Given the description of an element on the screen output the (x, y) to click on. 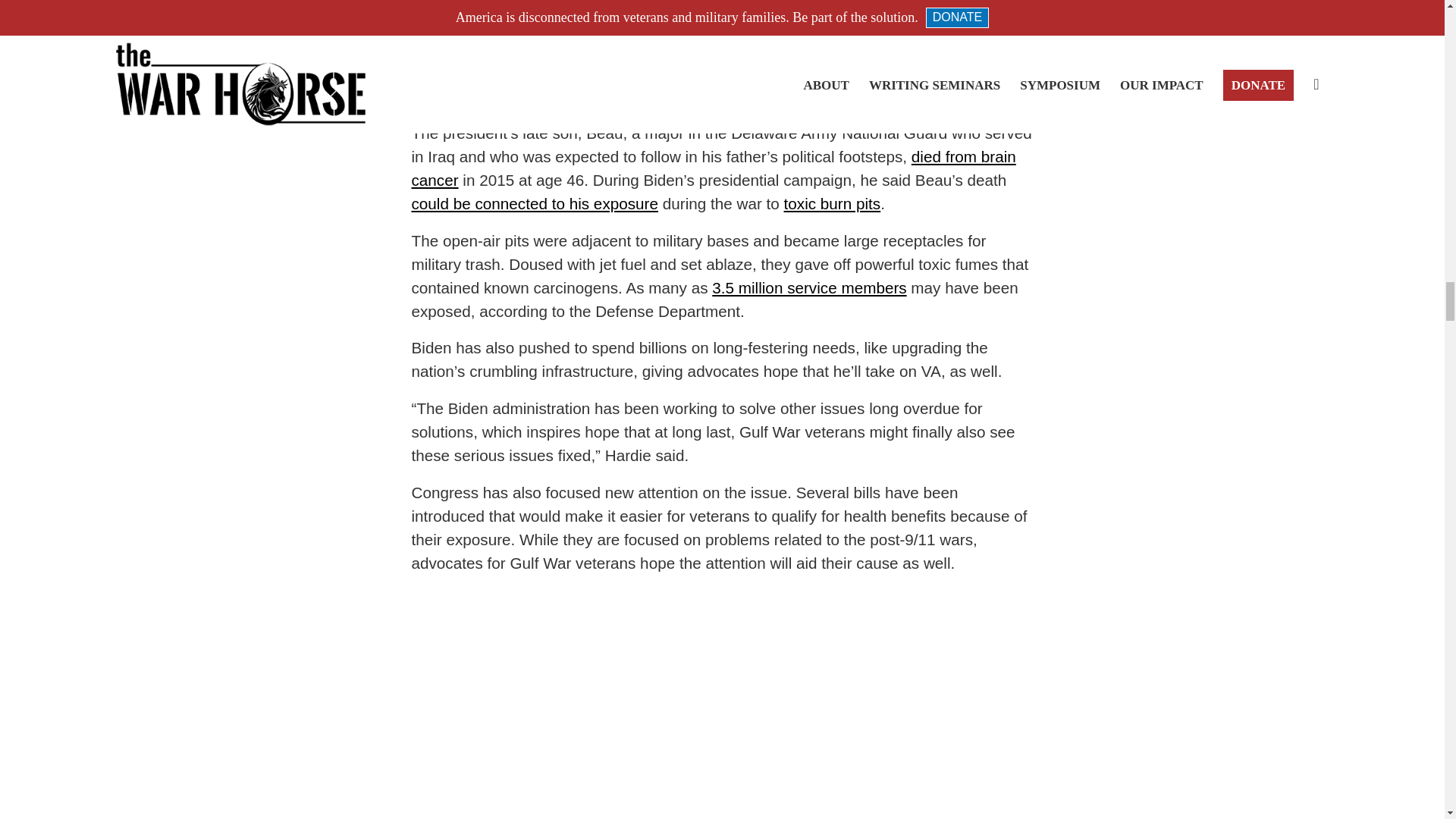
could be connected to his exposure (534, 203)
toxic burn pits (832, 203)
died from brain cancer (712, 168)
3.5 million service members (808, 287)
